Given the description of an element on the screen output the (x, y) to click on. 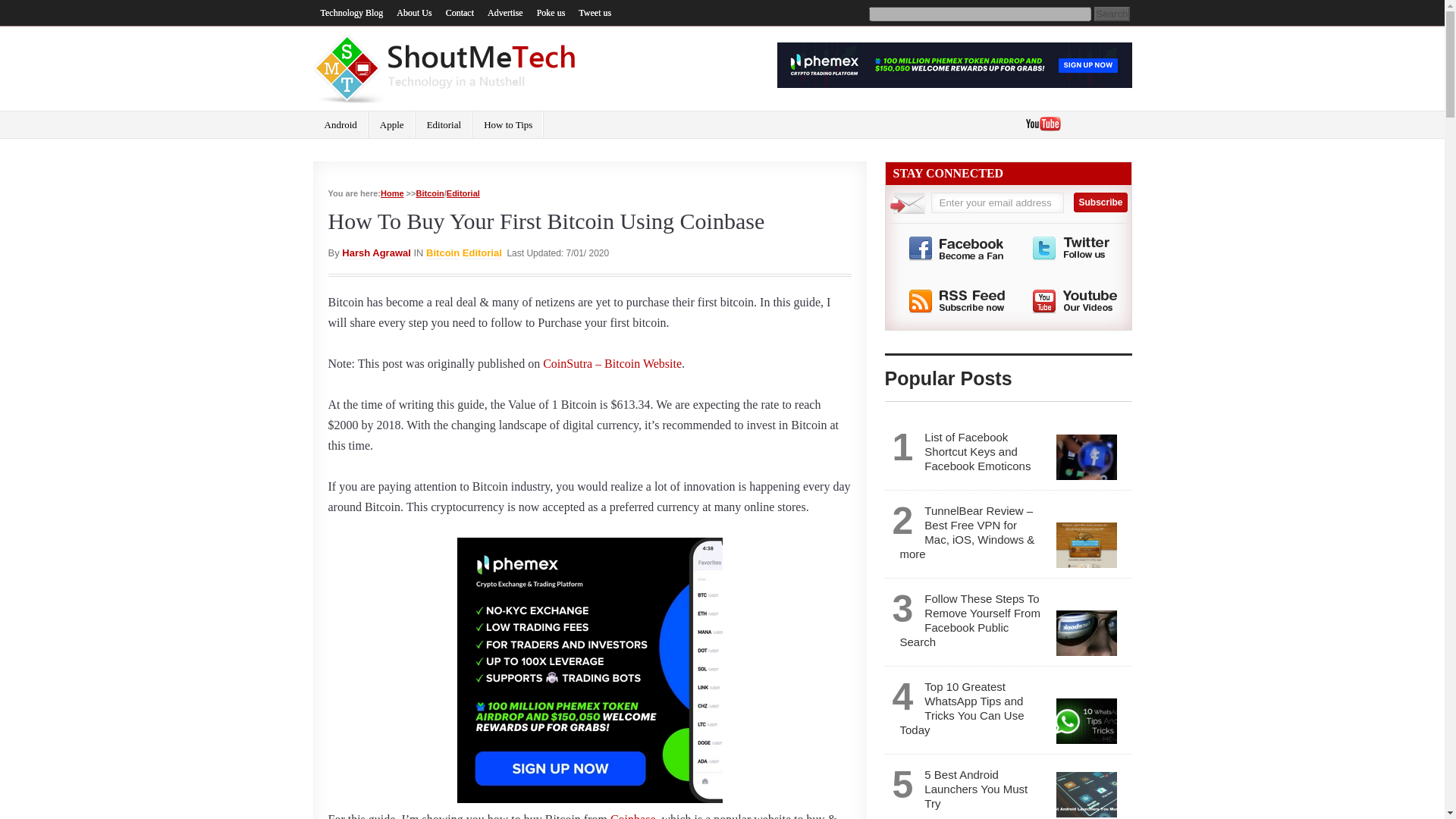
Technology Blog (352, 12)
Search (1111, 13)
Search (1111, 13)
Poke us (550, 12)
Coinbase, (634, 816)
Bitcoin (429, 193)
What is ShoutMeTech (414, 12)
Editorial (443, 124)
Editorial (482, 253)
Post: List of Facebook Shortcut Keys and Facebook Emoticons (971, 451)
About Us (414, 12)
List of Facebook Shortcut Keys and Facebook Emoticons (1086, 457)
Tweet us (594, 12)
Editorial (463, 193)
